Given the description of an element on the screen output the (x, y) to click on. 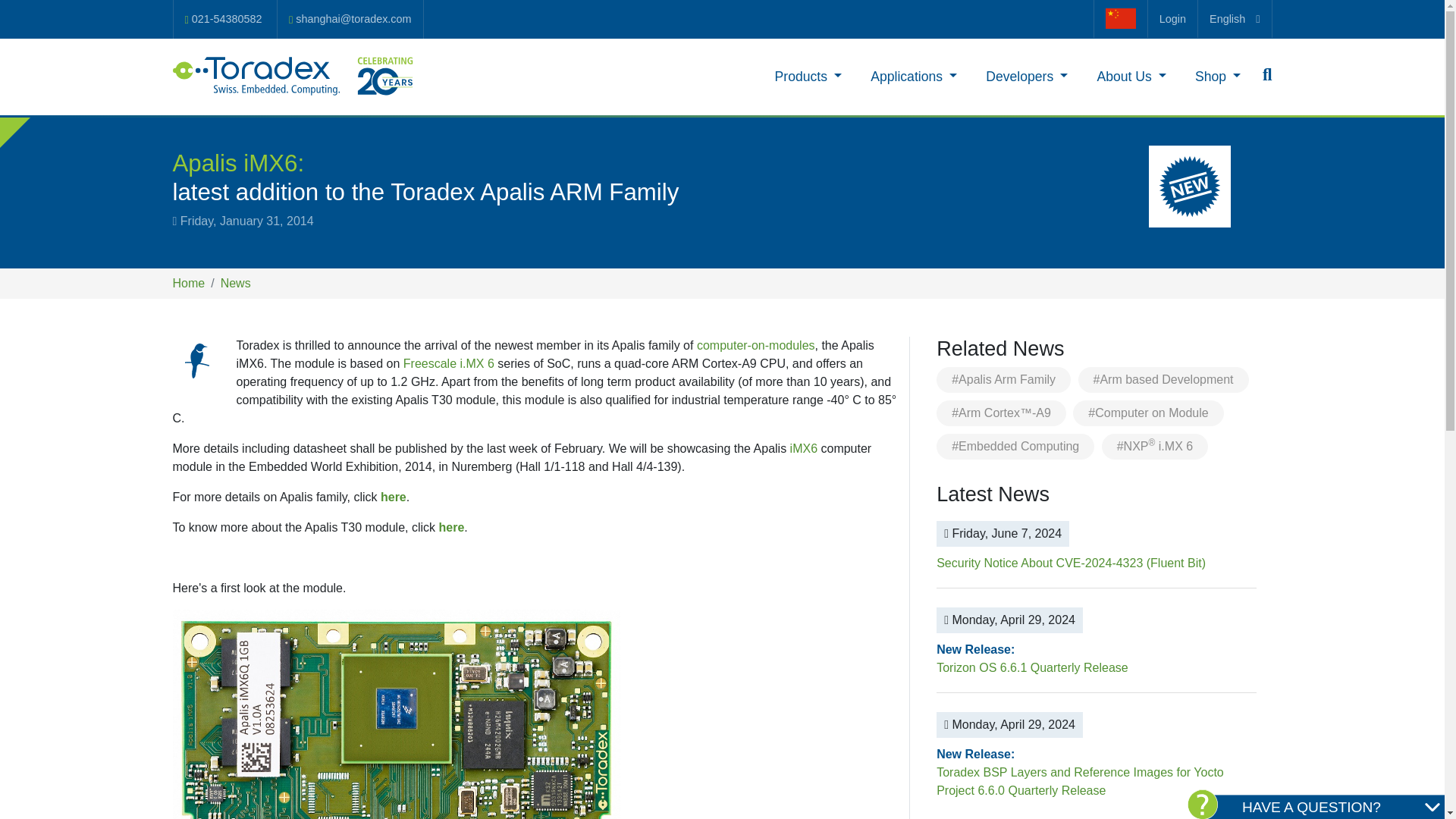
English (1234, 18)
Products (808, 76)
021-54380582 (223, 19)
Toradex - Global Leader in Arm Embedded Computer Modules (293, 75)
Login (1172, 18)
Apalis (197, 360)
Apalis iMX6 (396, 714)
